Given the description of an element on the screen output the (x, y) to click on. 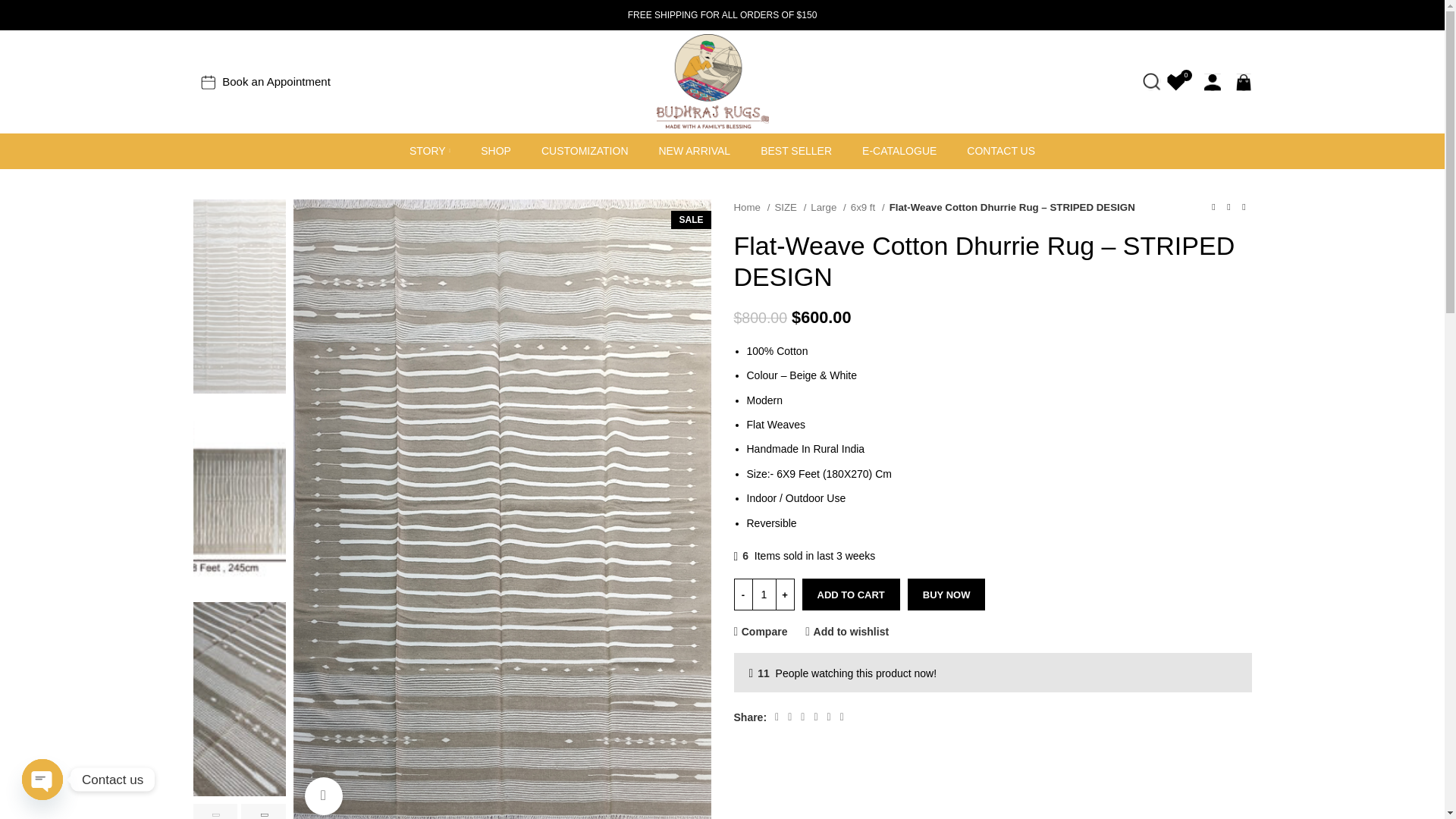
Compare (760, 631)
NEW ARRIVAL (694, 151)
Shopping cart (1243, 81)
E-CATALOGUE (898, 151)
1 (763, 594)
Large (827, 207)
SIZE (790, 207)
My account (1212, 81)
My Wishlist (1175, 81)
BEST SELLER (795, 151)
STORY (429, 151)
SHOP (495, 151)
